Given the description of an element on the screen output the (x, y) to click on. 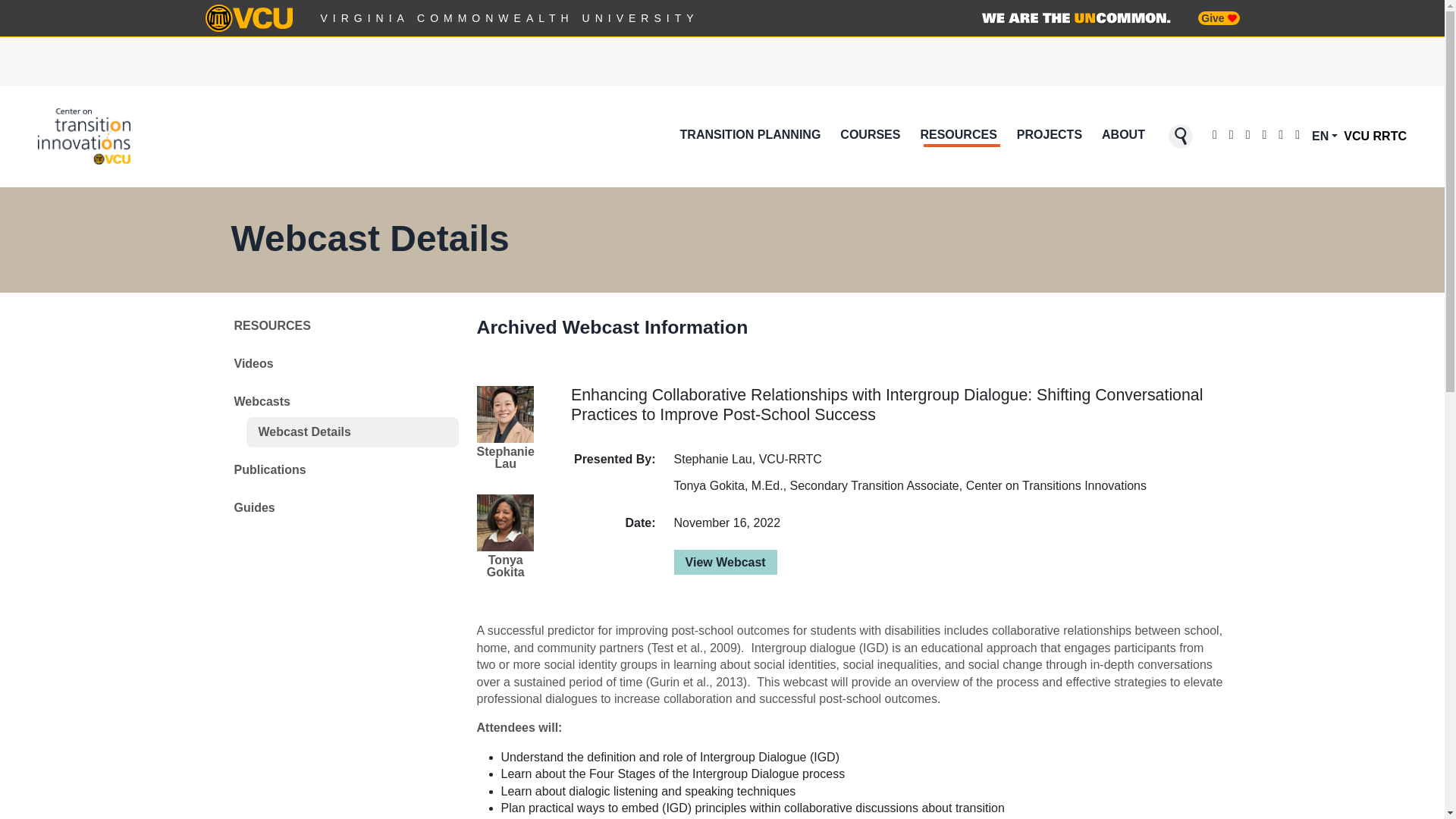
We are the UNCOMMON. (1075, 17)
TRANSITION PLANNING (750, 136)
PROJECTS (1048, 136)
Give  (1218, 18)
RESOURCES (958, 136)
VIRGINIA COMMONWEALTH UNIVERSITY (509, 18)
ABOUT (1123, 136)
COURSES (869, 136)
